Given the description of an element on the screen output the (x, y) to click on. 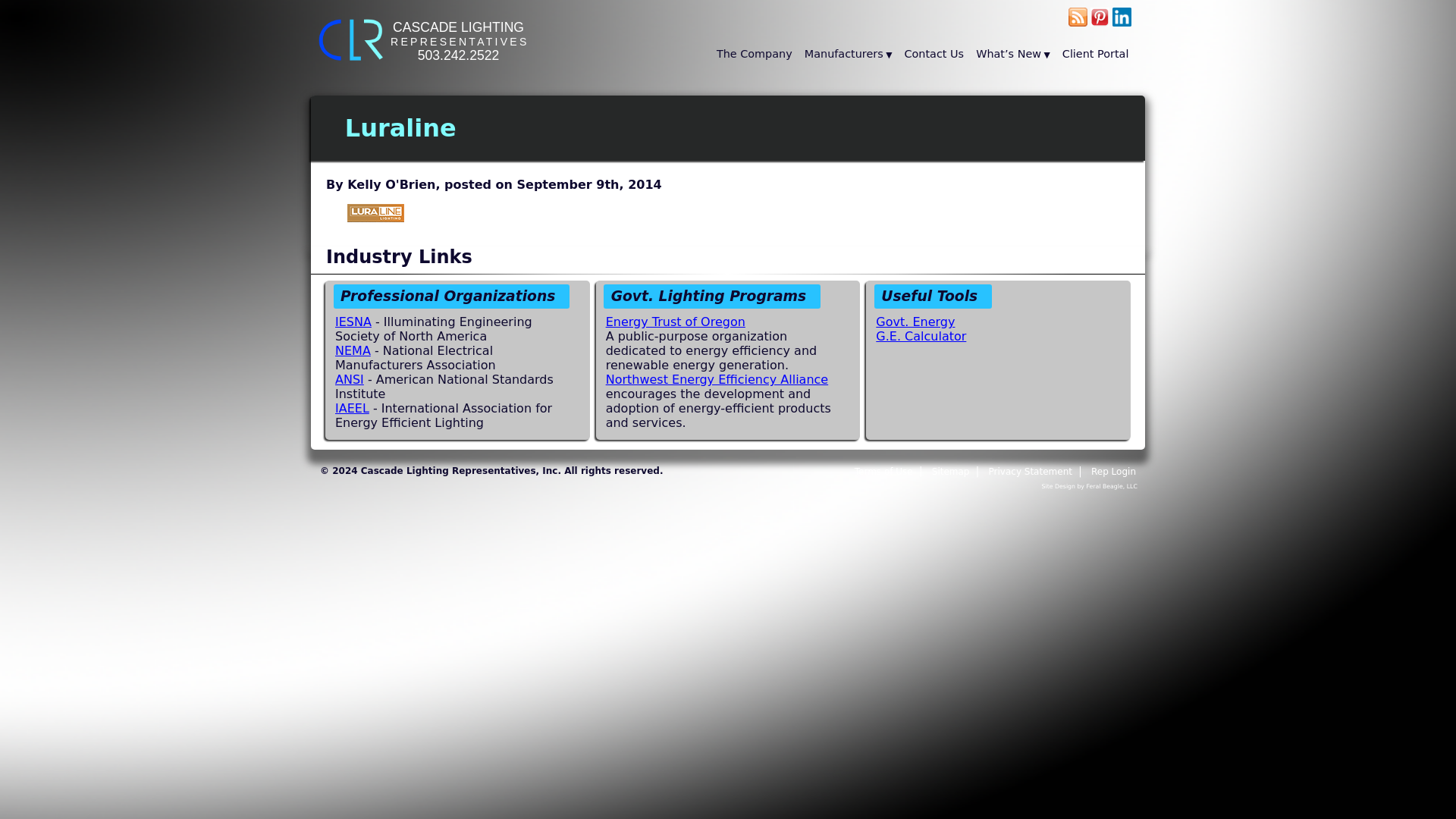
RSS (1078, 23)
IESNA (352, 321)
Sitemap (958, 471)
Northwest Energy Efficiency Alliance (716, 379)
Linked In (1121, 23)
Energy Trust of Oregon (675, 321)
Client Portal (1095, 54)
RSS (1077, 16)
G.E. Calculator (921, 336)
Rep Login (426, 67)
Contact Us (1112, 471)
ANSI (933, 54)
IAEEL (349, 379)
Gallery images of our Manufacturers (351, 408)
